Given the description of an element on the screen output the (x, y) to click on. 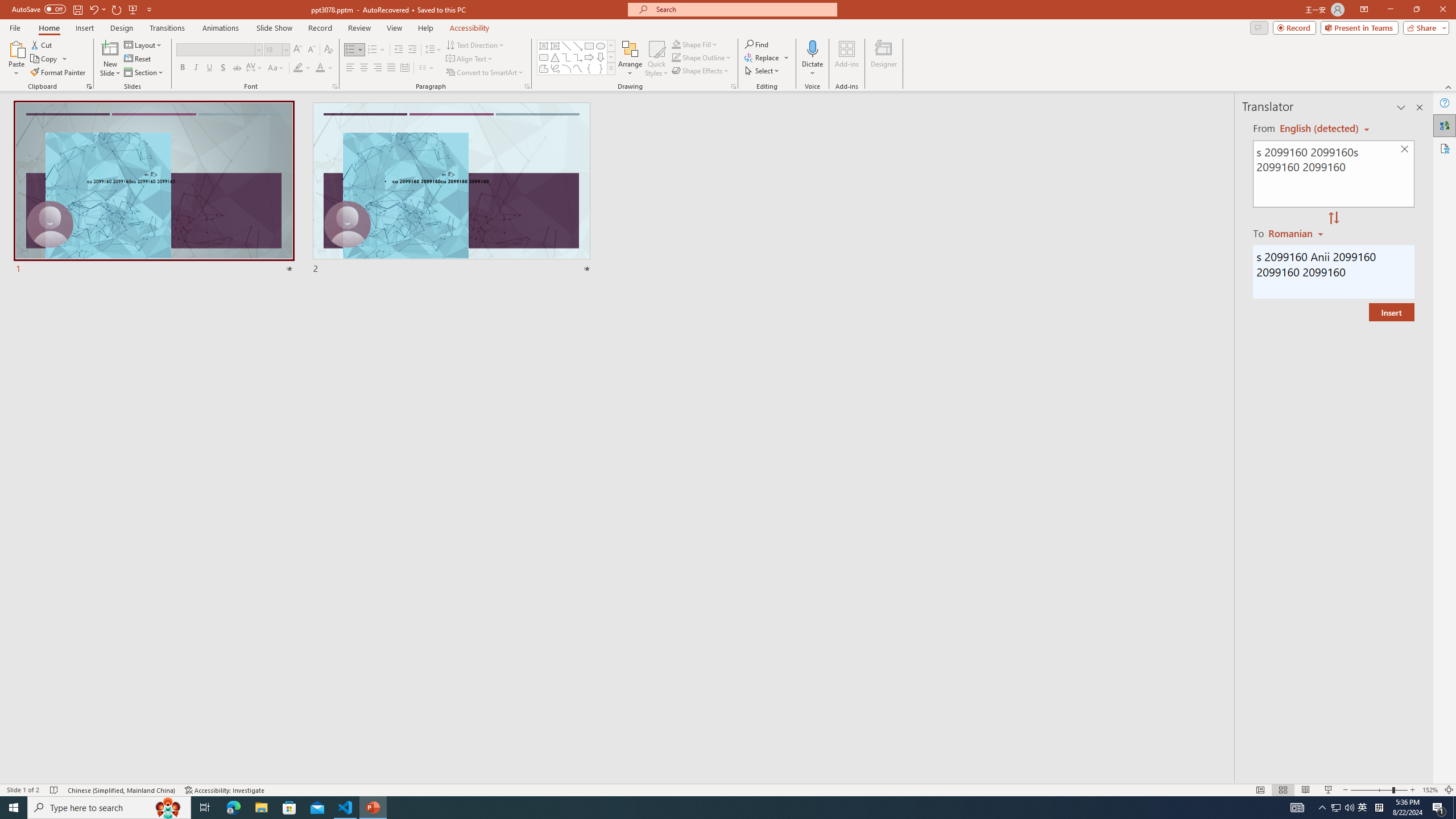
Clear text (1404, 149)
Romanian (1296, 232)
